Given the description of an element on the screen output the (x, y) to click on. 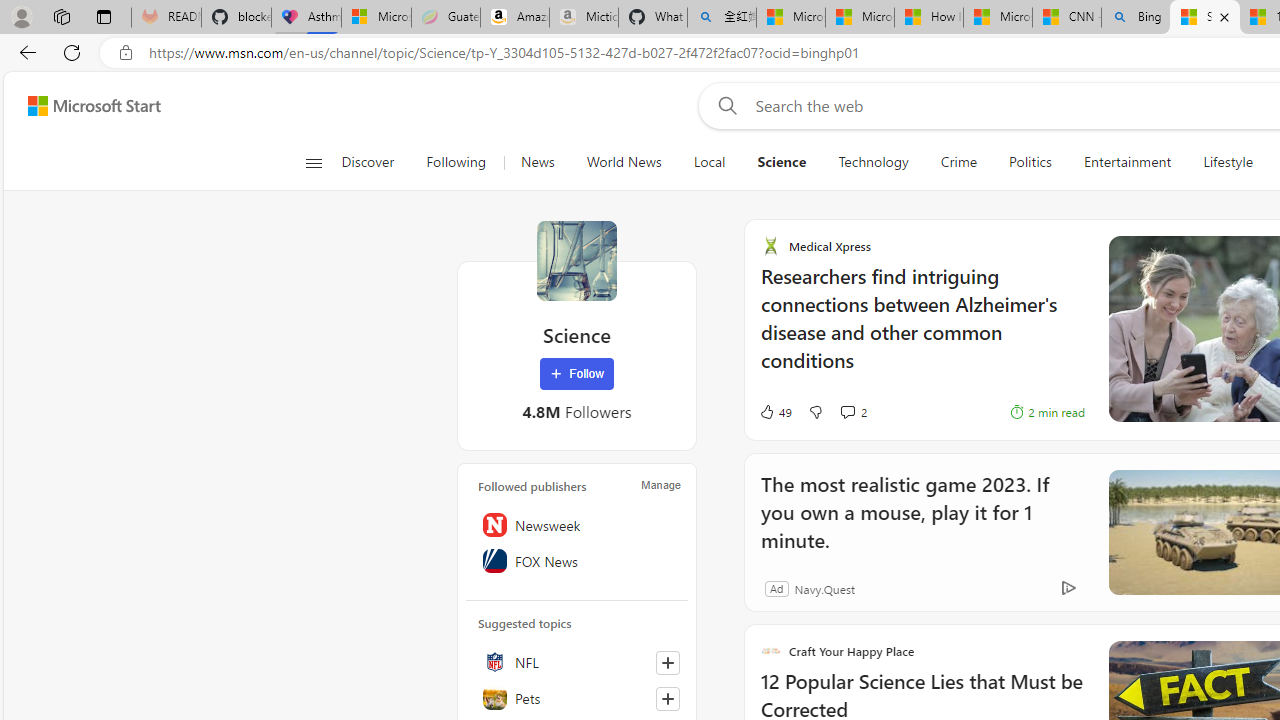
Newsweek (577, 525)
World News (623, 162)
Science (781, 162)
World News (623, 162)
Crime (958, 162)
Web search (724, 105)
Local (709, 162)
Local (708, 162)
49 Like (753, 412)
